Given the description of an element on the screen output the (x, y) to click on. 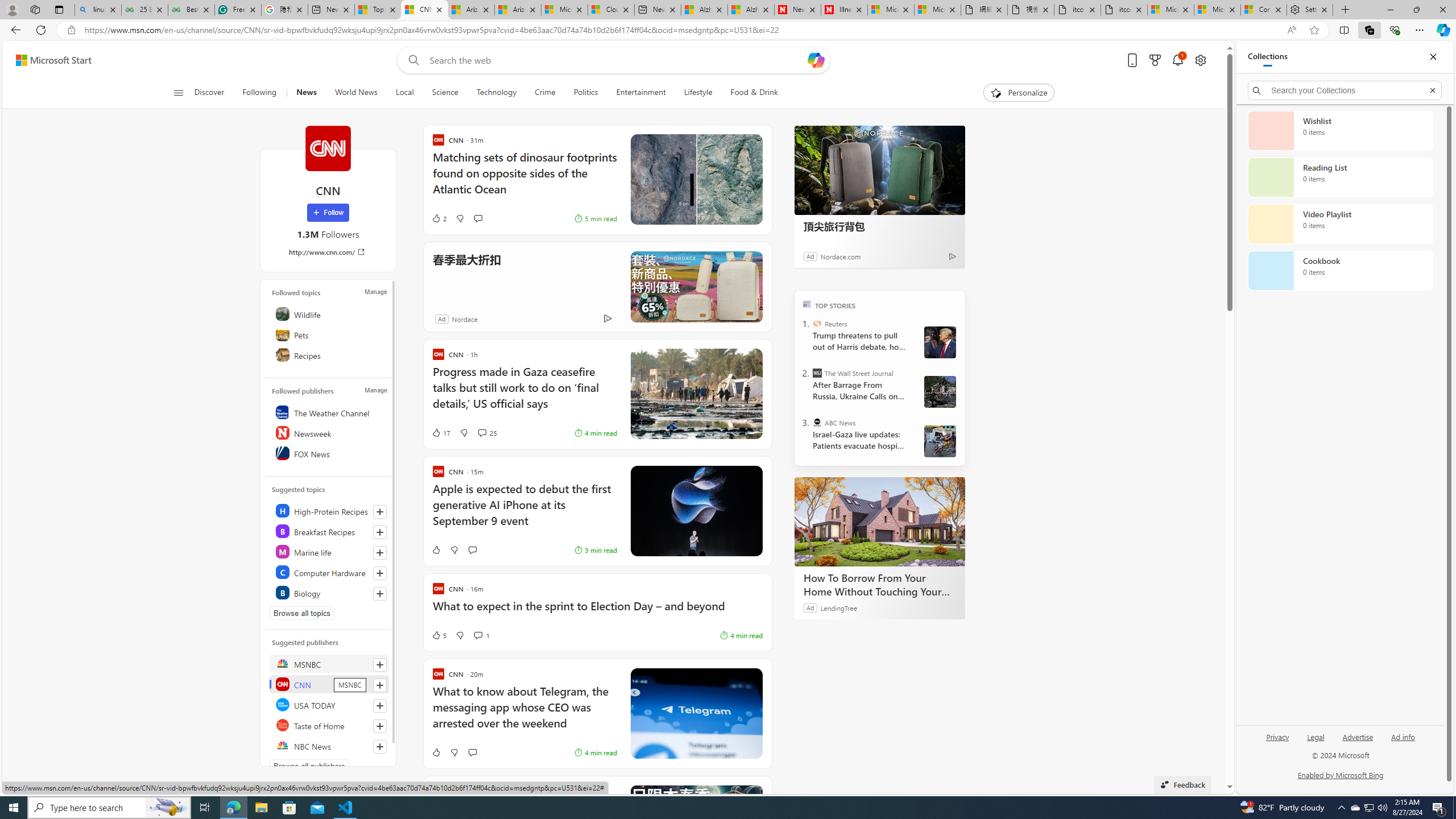
View comments 25 Comment (487, 432)
